Given the description of an element on the screen output the (x, y) to click on. 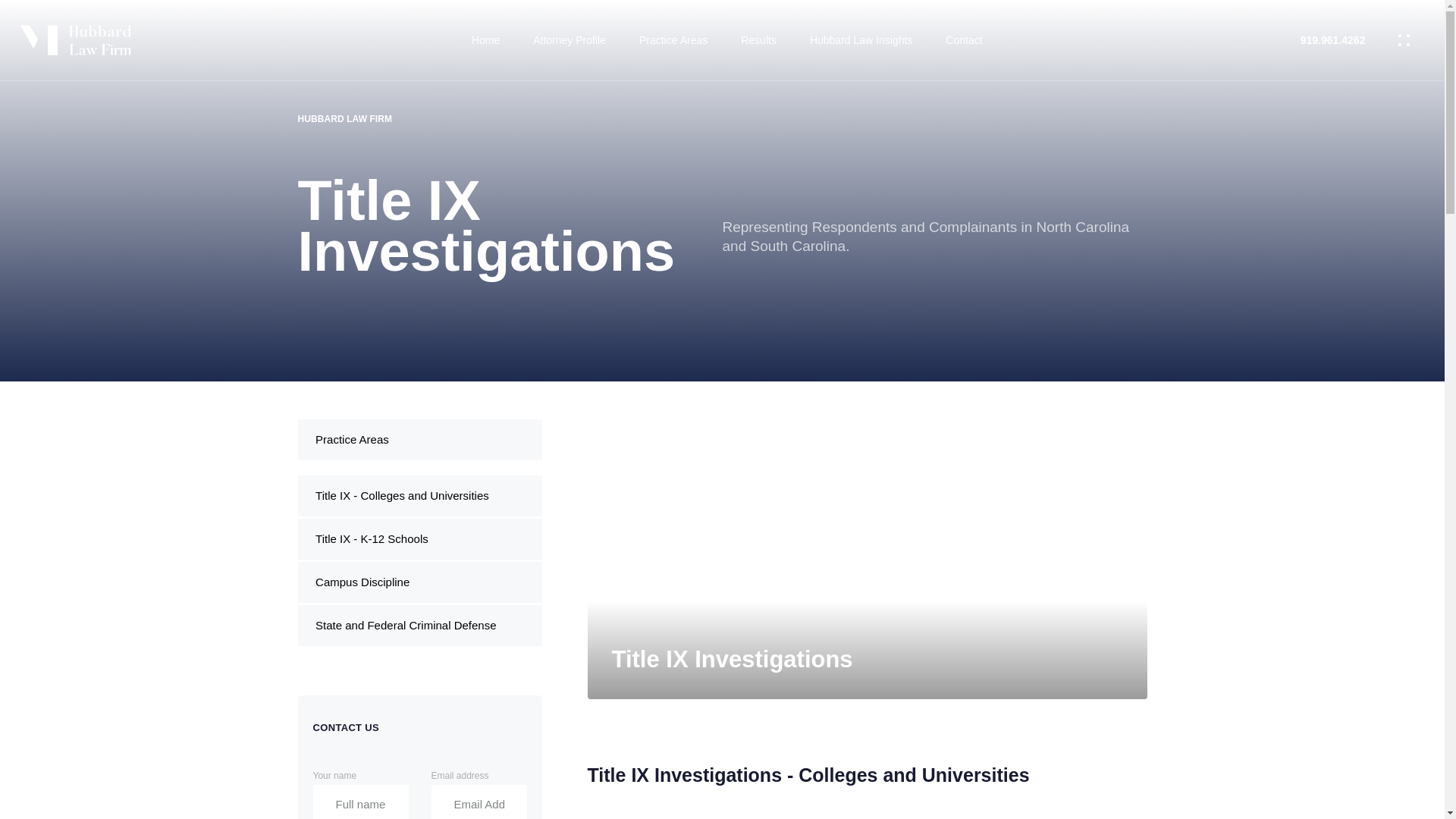
Title IX - K-12 Schools (419, 538)
Practice Areas (673, 40)
Home (485, 40)
Title IX - Colleges and Universities (419, 495)
Campus Discipline (419, 581)
Practice Areas (419, 439)
State and Federal Criminal Defense (419, 625)
Attorney Profile (569, 40)
Hubbard Law Insights (860, 40)
Contact (963, 40)
Results (758, 40)
